Given the description of an element on the screen output the (x, y) to click on. 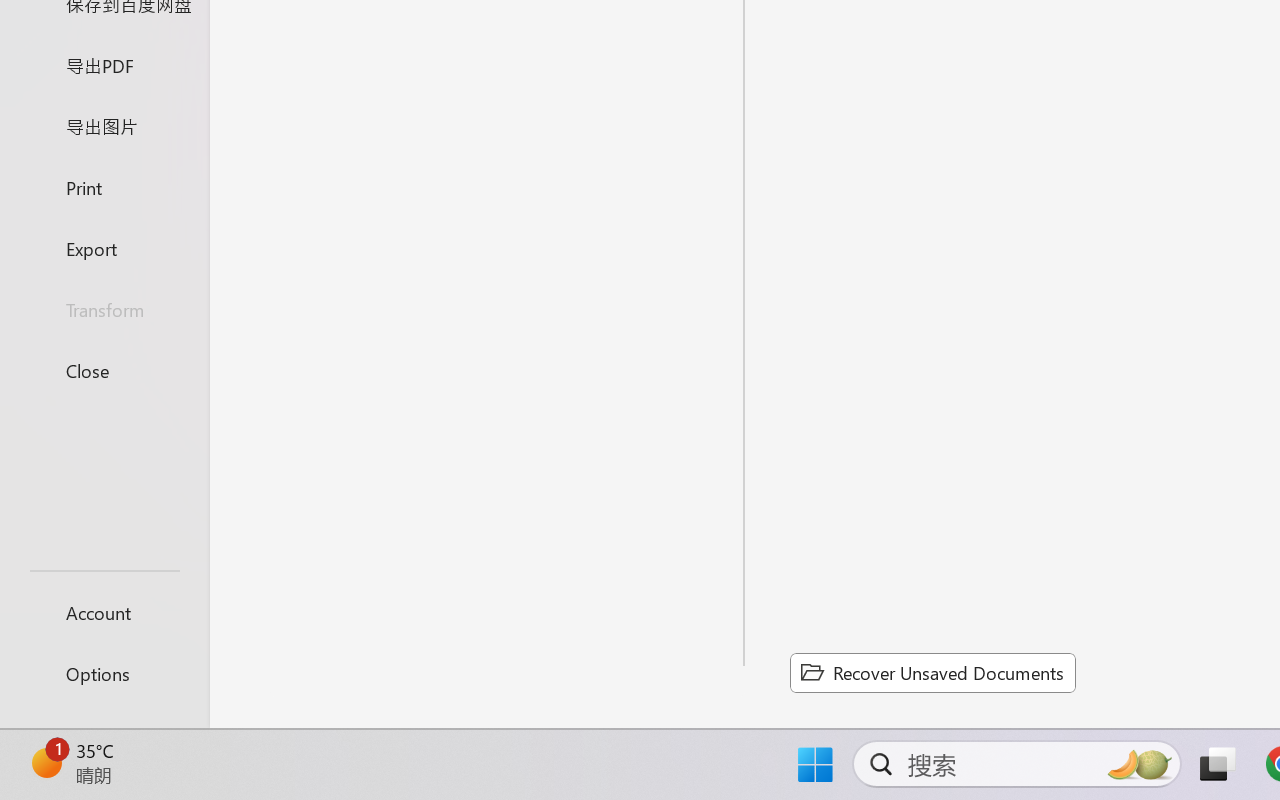
Transform (104, 309)
Export (104, 248)
Print (104, 186)
Account (104, 612)
Options (104, 673)
Recover Unsaved Documents (932, 672)
